Given the description of an element on the screen output the (x, y) to click on. 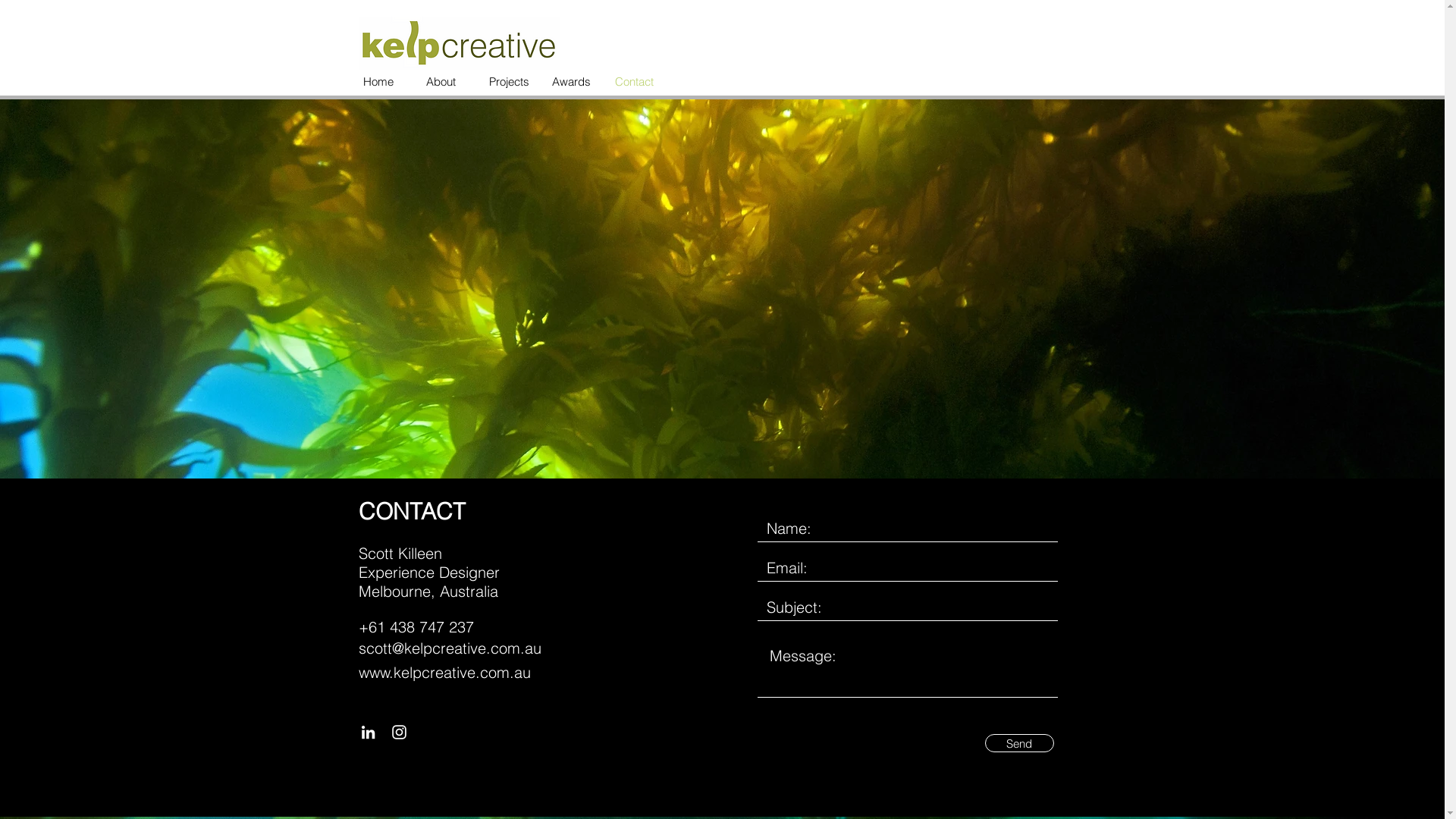
scott@kelpcreative.com.au Element type: text (448, 648)
Awards Element type: text (570, 81)
+61 438 747 237 Element type: text (415, 627)
TWIPLA (Visitor Analytics) Element type: hover (1442, 4)
Projects Element type: text (508, 81)
Send Element type: text (1018, 743)
Home Element type: text (382, 81)
About Element type: text (445, 81)
www.kelpcreative.com.au Element type: text (443, 672)
Contact Element type: text (634, 81)
